Given the description of an element on the screen output the (x, y) to click on. 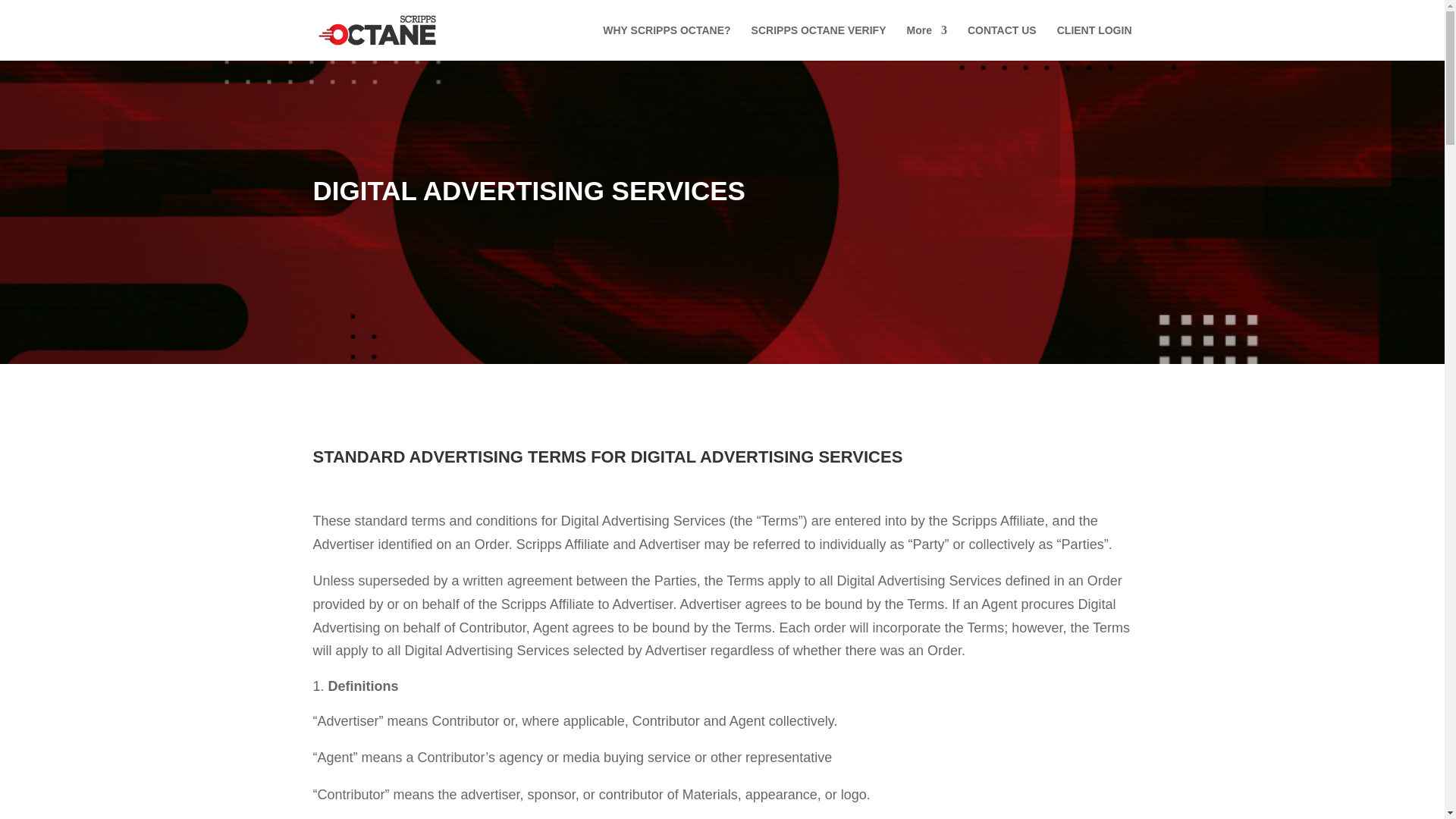
WHY SCRIPPS OCTANE? (666, 42)
CONTACT US (1002, 42)
CLIENT LOGIN (1094, 42)
SCRIPPS OCTANE VERIFY (818, 42)
More (927, 42)
